Given the description of an element on the screen output the (x, y) to click on. 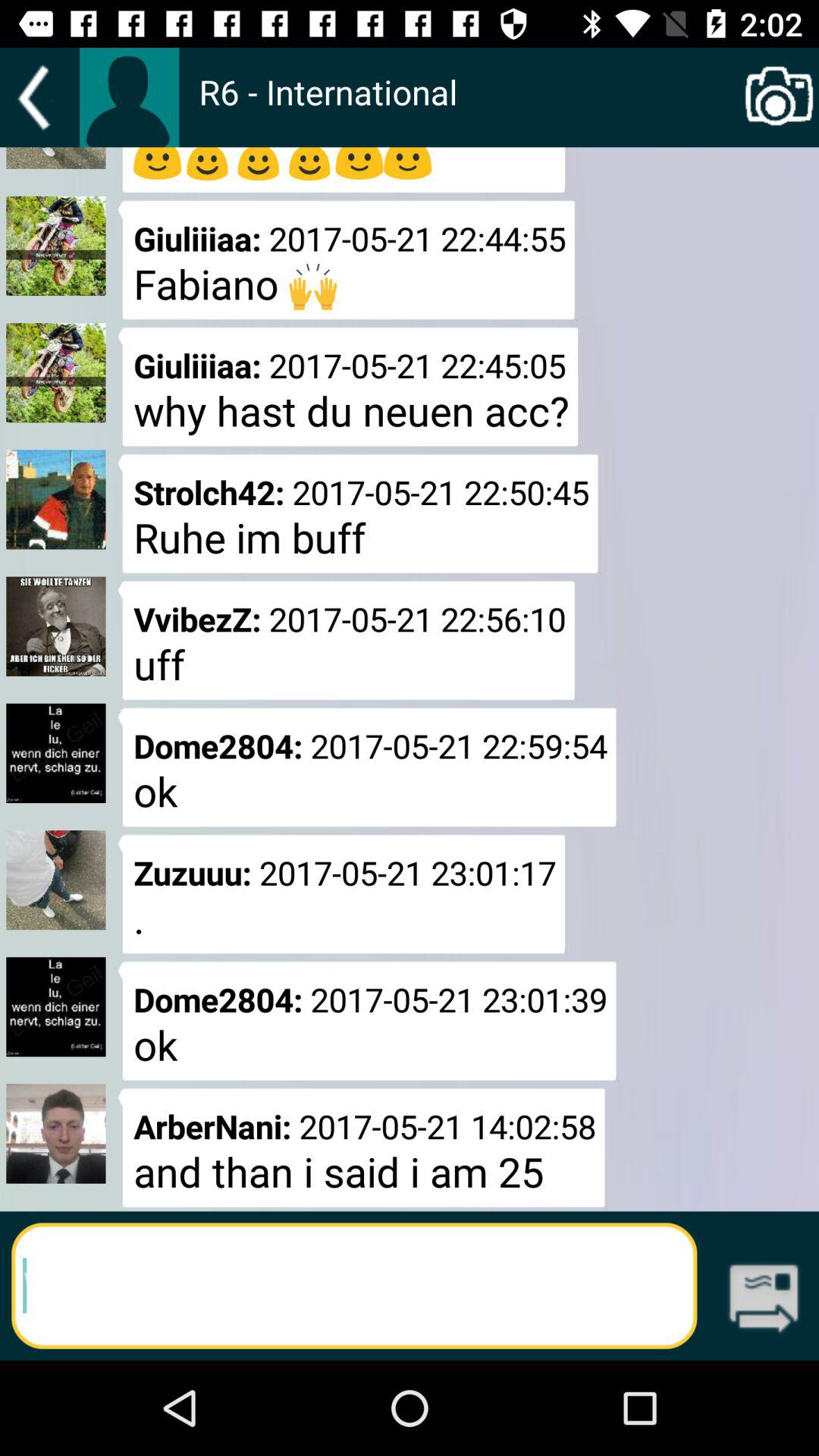
choose the app below the strolch42 2017 05 icon (346, 639)
